Given the description of an element on the screen output the (x, y) to click on. 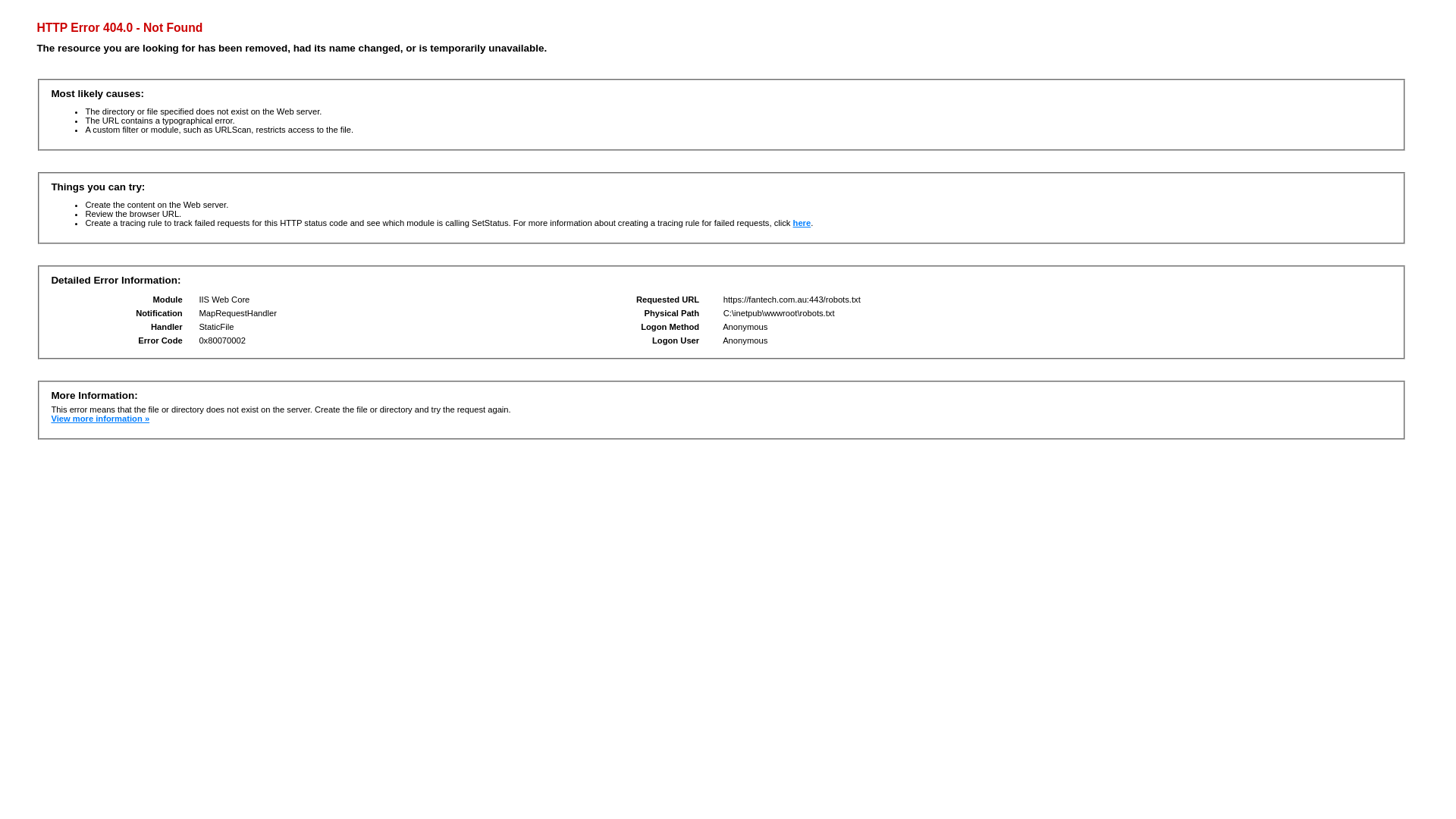
here Element type: text (802, 222)
